Given the description of an element on the screen output the (x, y) to click on. 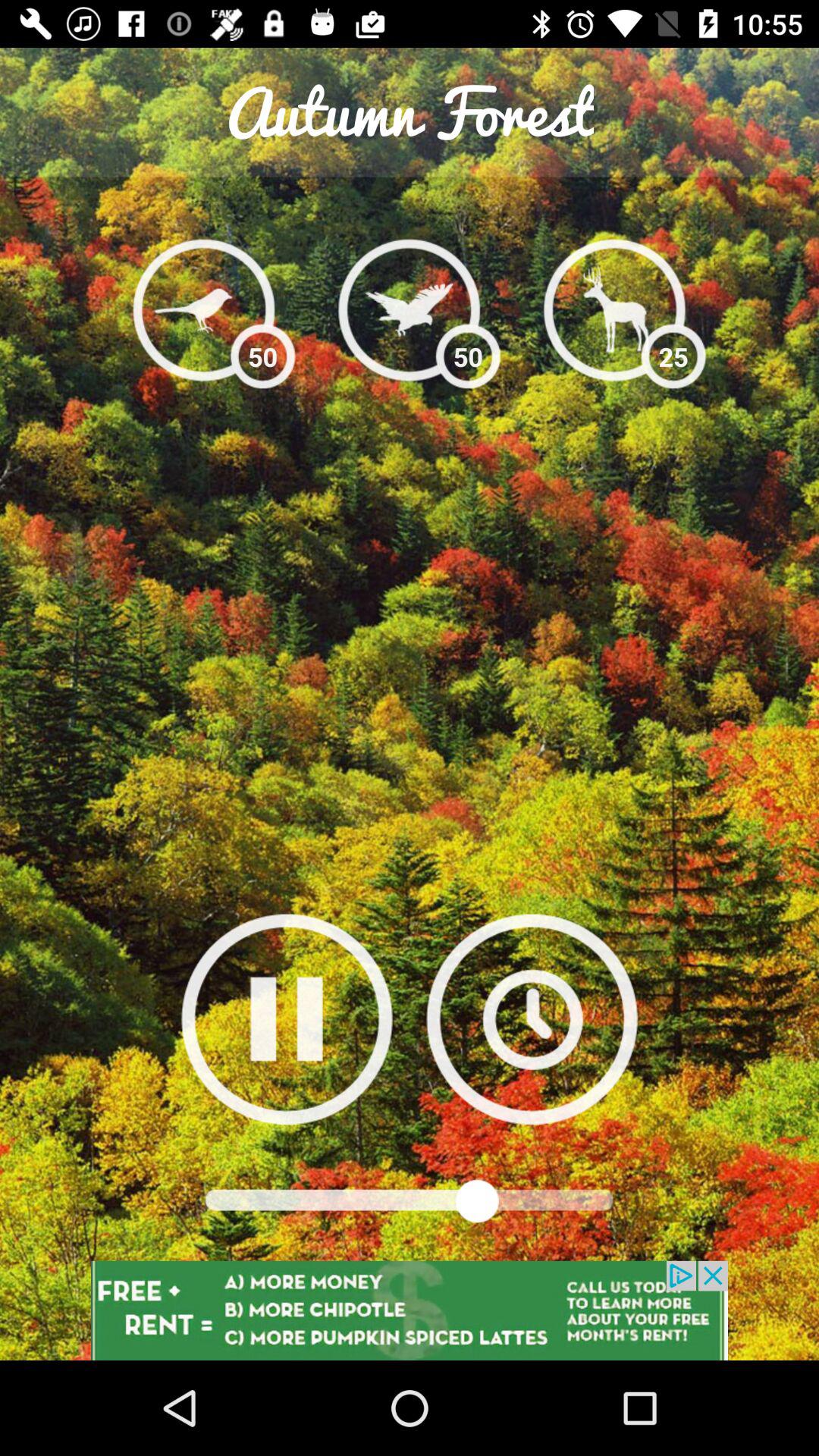
bird sounds (203, 309)
